Given the description of an element on the screen output the (x, y) to click on. 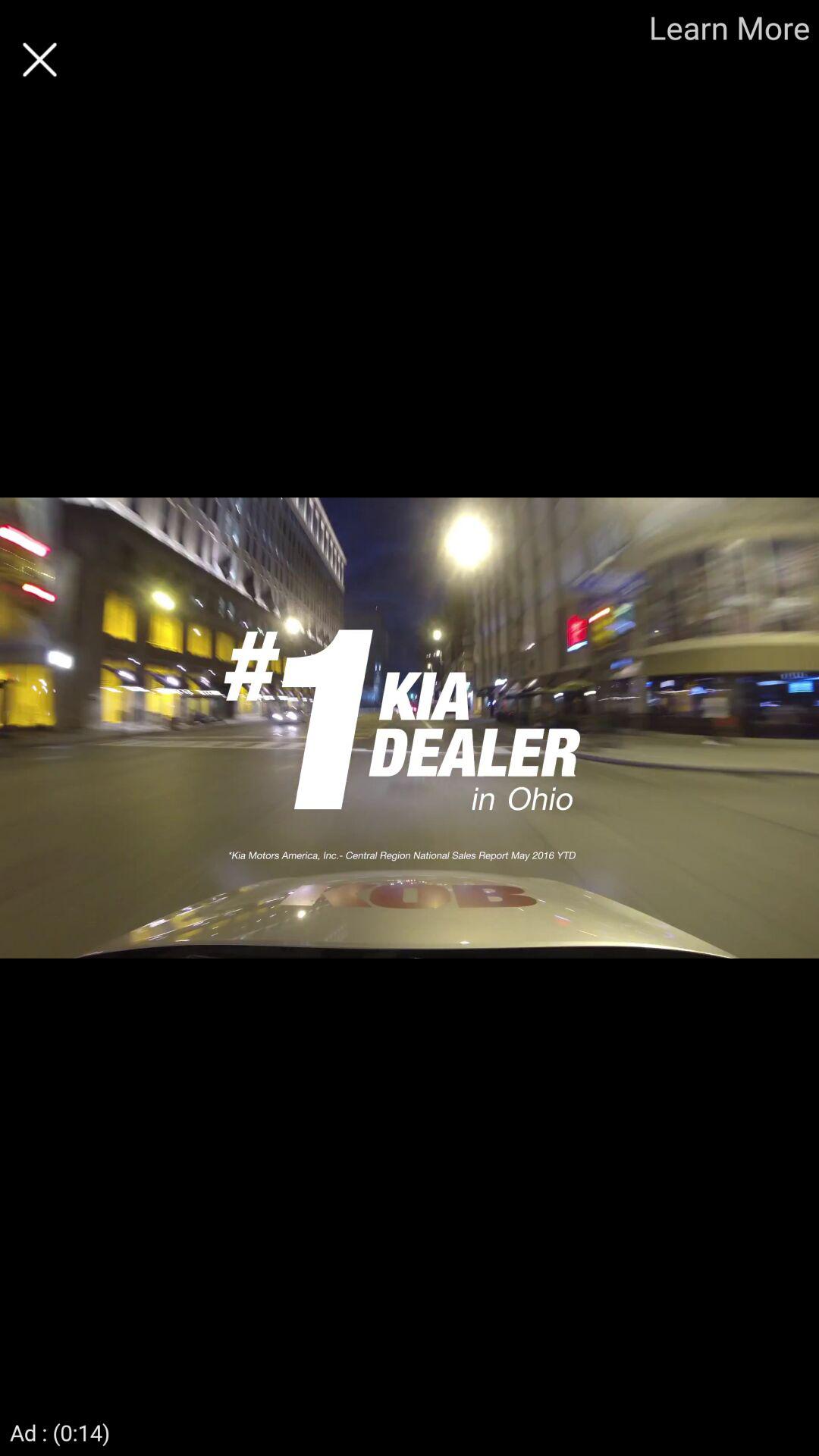
cancel the current page (39, 59)
